Given the description of an element on the screen output the (x, y) to click on. 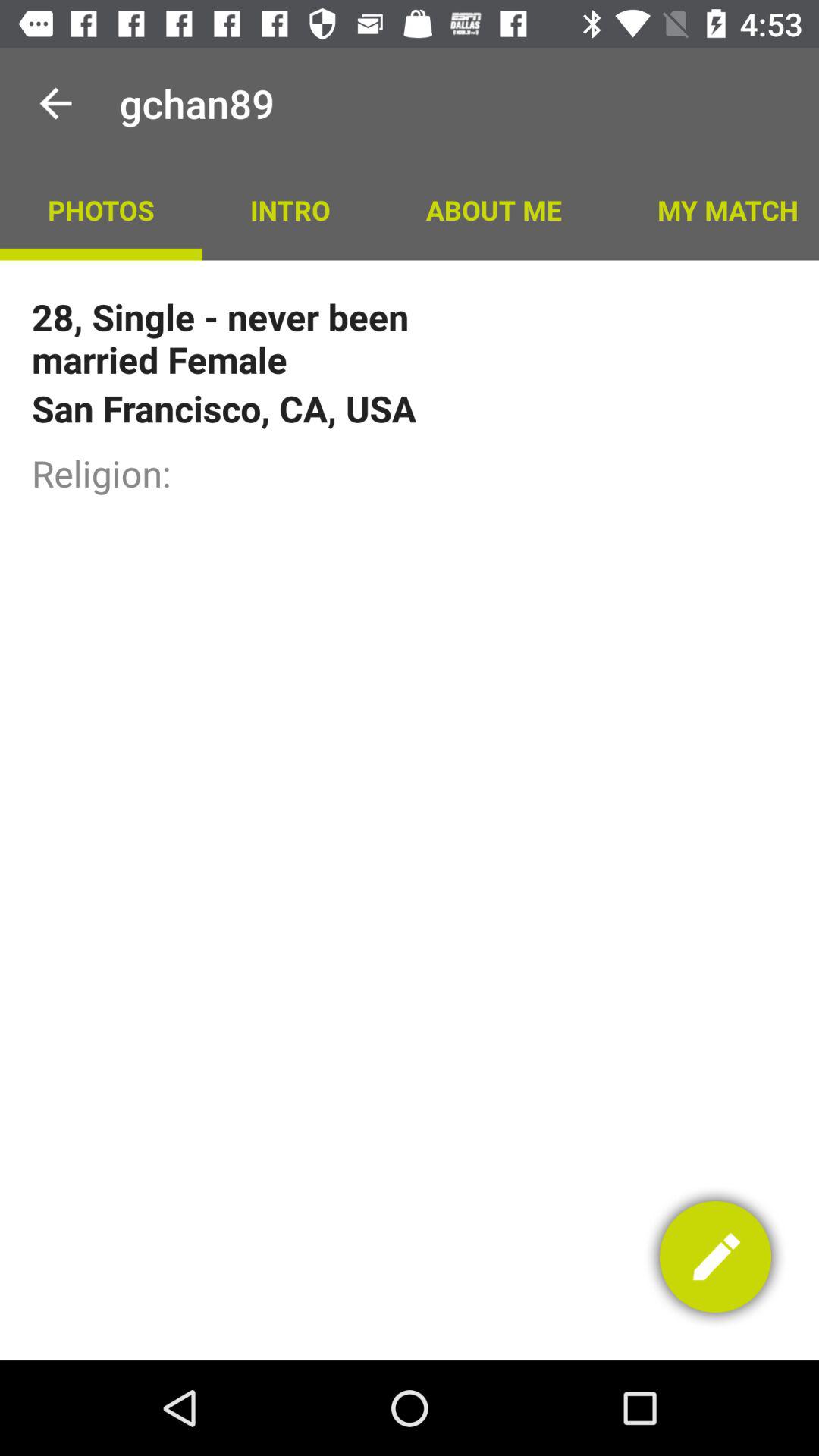
swipe until photos icon (101, 209)
